Given the description of an element on the screen output the (x, y) to click on. 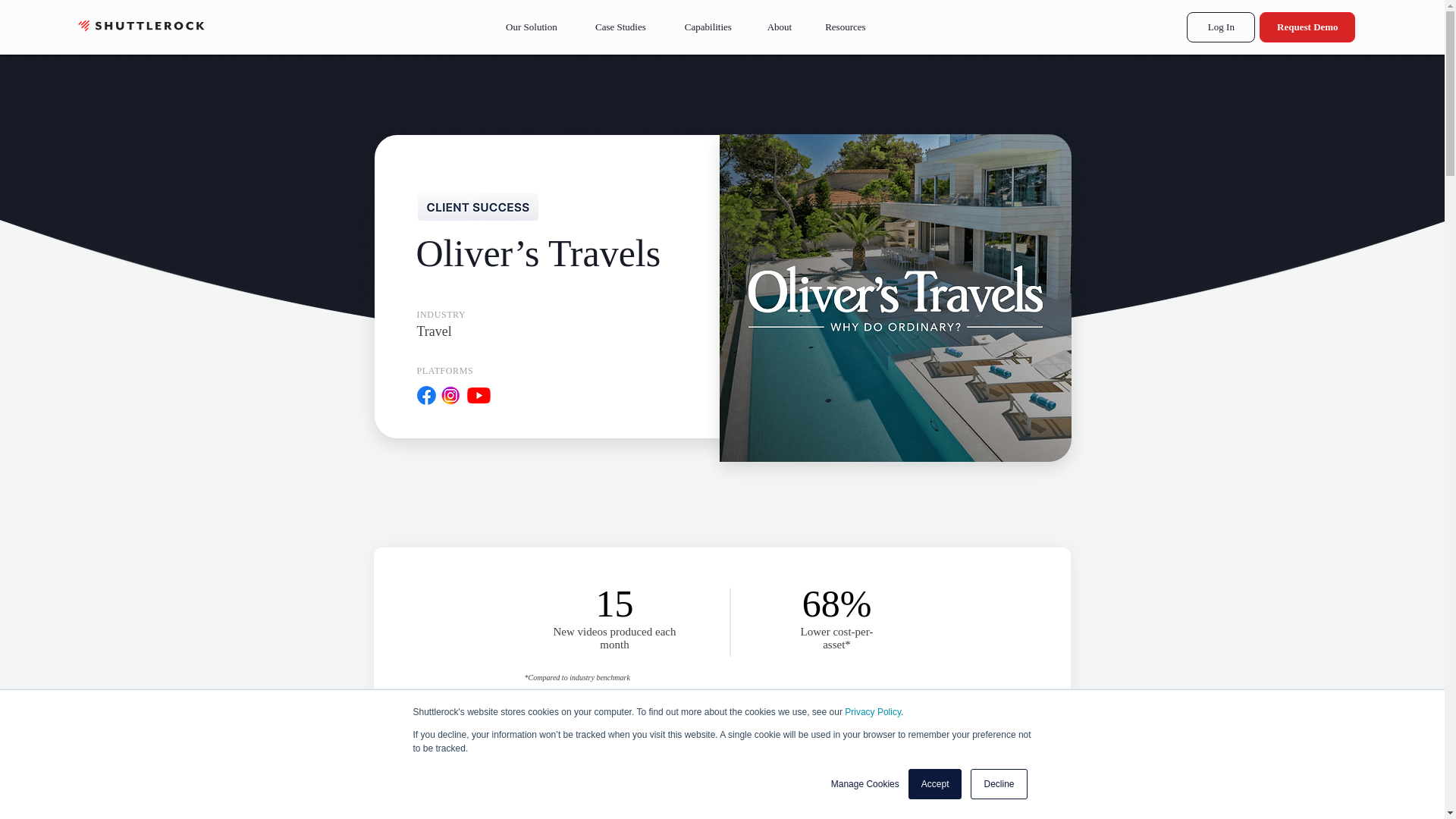
Decline (998, 784)
Privacy Policy (872, 711)
Request Demo (1307, 27)
Resources (845, 26)
Case Studies (620, 26)
Manage Cookies (865, 784)
Our Solution (530, 26)
Log In (1220, 27)
About (779, 26)
Accept (935, 784)
